Given the description of an element on the screen output the (x, y) to click on. 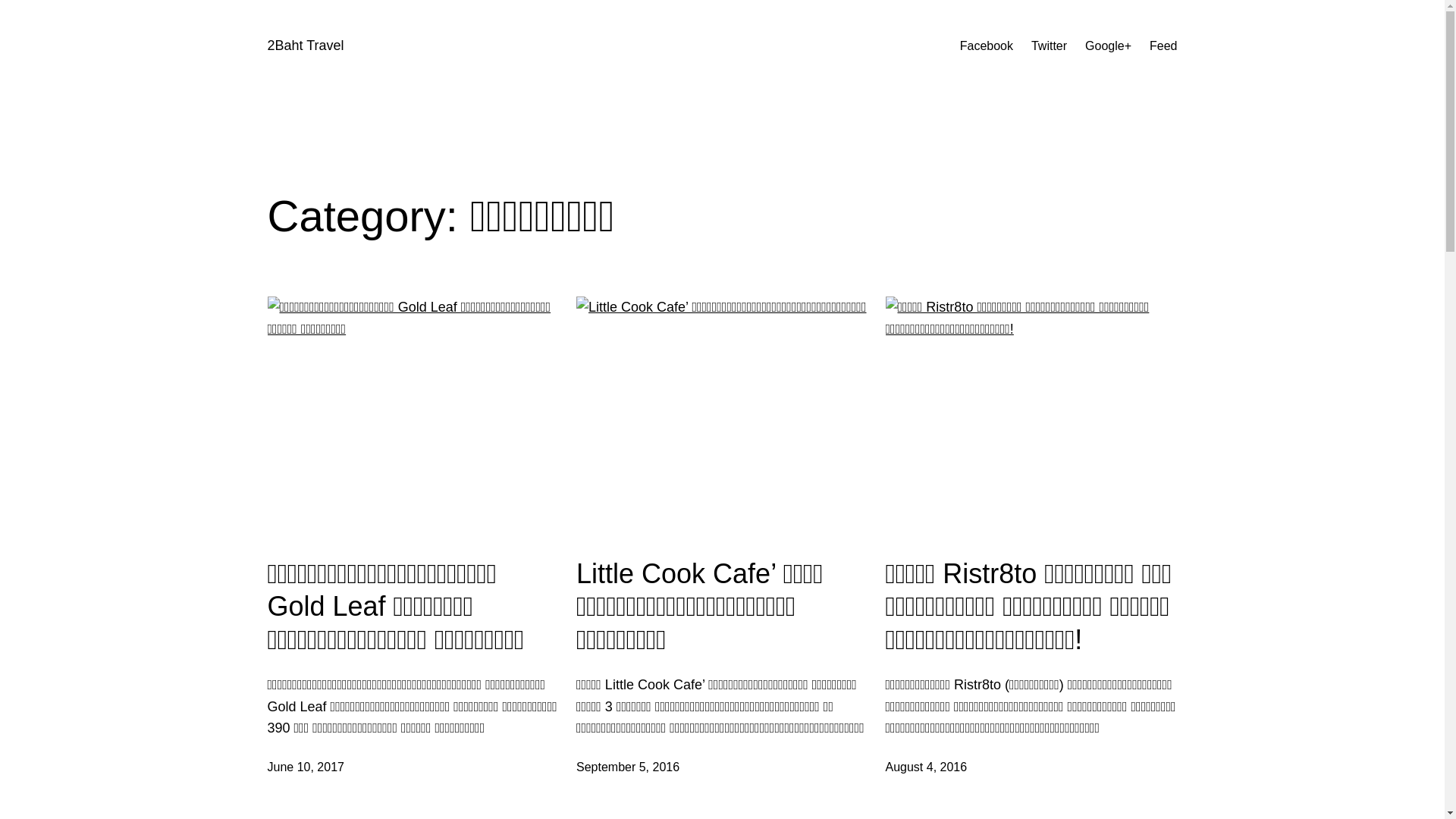
Feed Element type: text (1162, 46)
Facebook Element type: text (986, 46)
August 4, 2016 Element type: text (926, 766)
Twitter Element type: text (1048, 46)
Google+ Element type: text (1108, 46)
June 10, 2017 Element type: text (304, 766)
2Baht Travel Element type: text (304, 45)
September 5, 2016 Element type: text (627, 766)
